Given the description of an element on the screen output the (x, y) to click on. 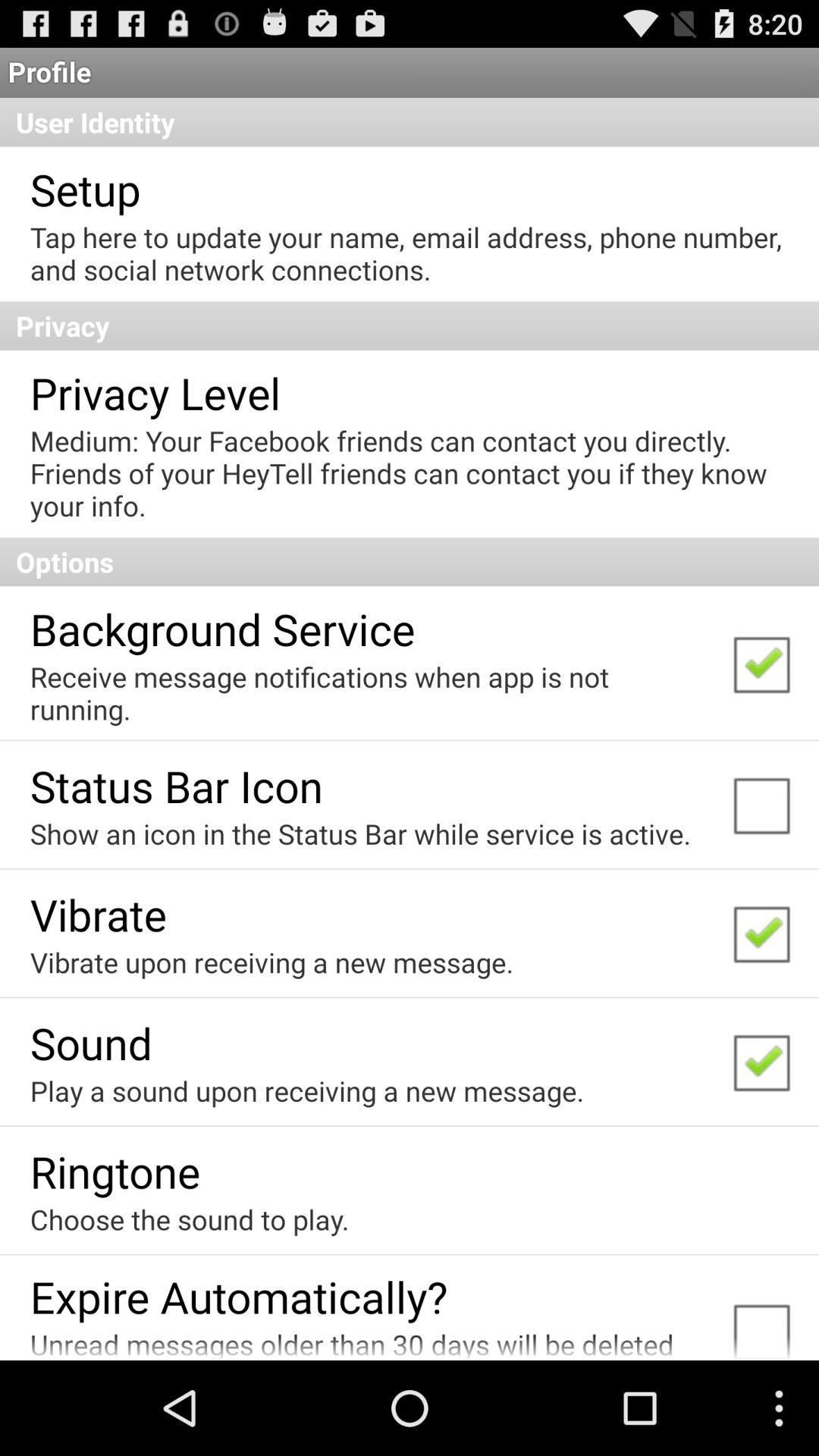
click receive message notifications (370, 693)
